Given the description of an element on the screen output the (x, y) to click on. 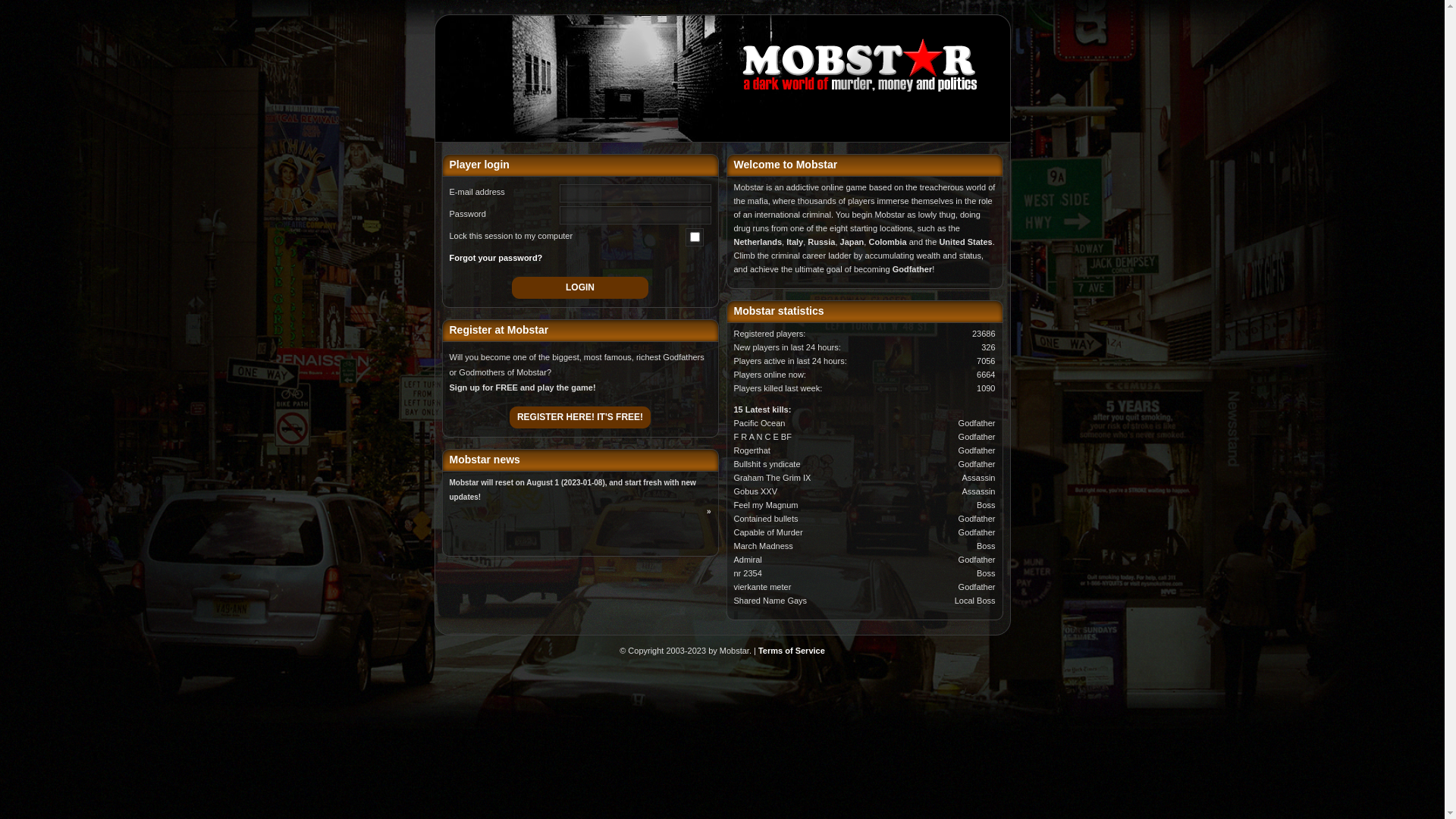
Forgot your password? Element type: text (495, 257)
Terms of Service Element type: text (791, 650)
REGISTER HERE! IT'S FREE! Element type: text (579, 417)
LOGIN Element type: text (579, 287)
